Given the description of an element on the screen output the (x, y) to click on. 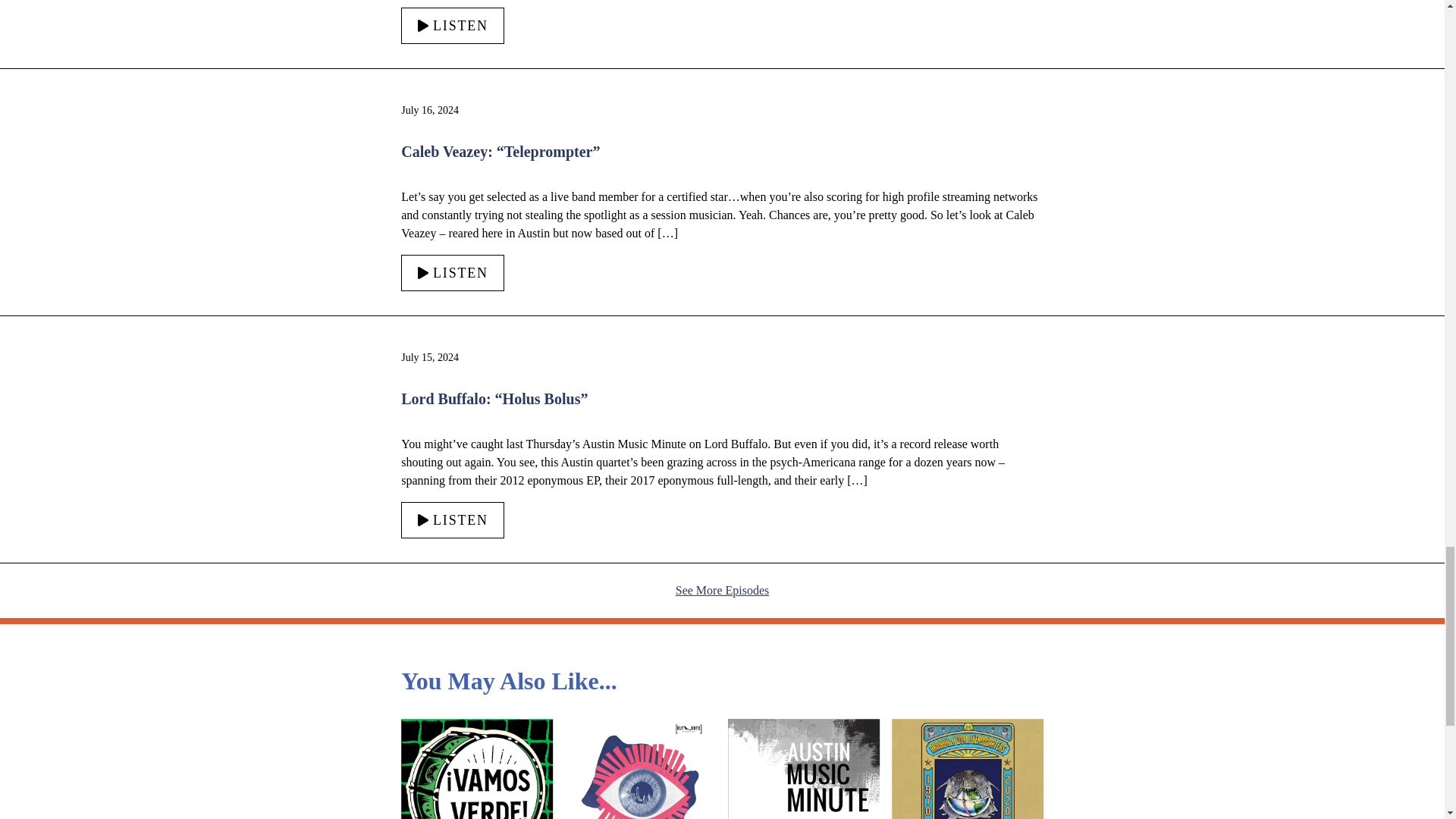
LISTEN (452, 25)
